Given the description of an element on the screen output the (x, y) to click on. 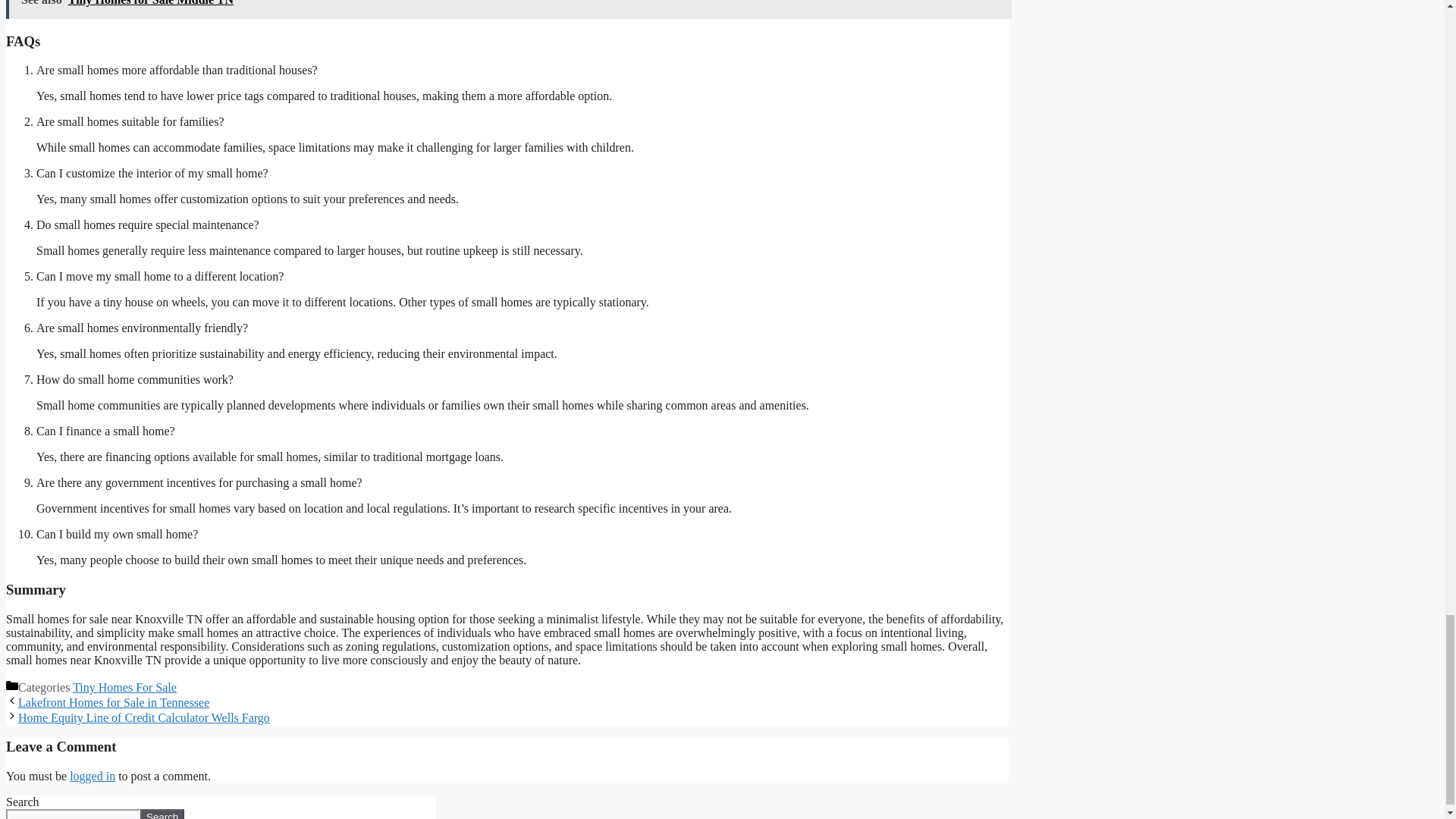
See also  Tiny Homes for Sale Middle TN (508, 9)
Tiny Homes For Sale (124, 686)
Home Equity Line of Credit Calculator Wells Fargo (143, 717)
Lakefront Homes for Sale in Tennessee (113, 702)
logged in (92, 775)
